Given the description of an element on the screen output the (x, y) to click on. 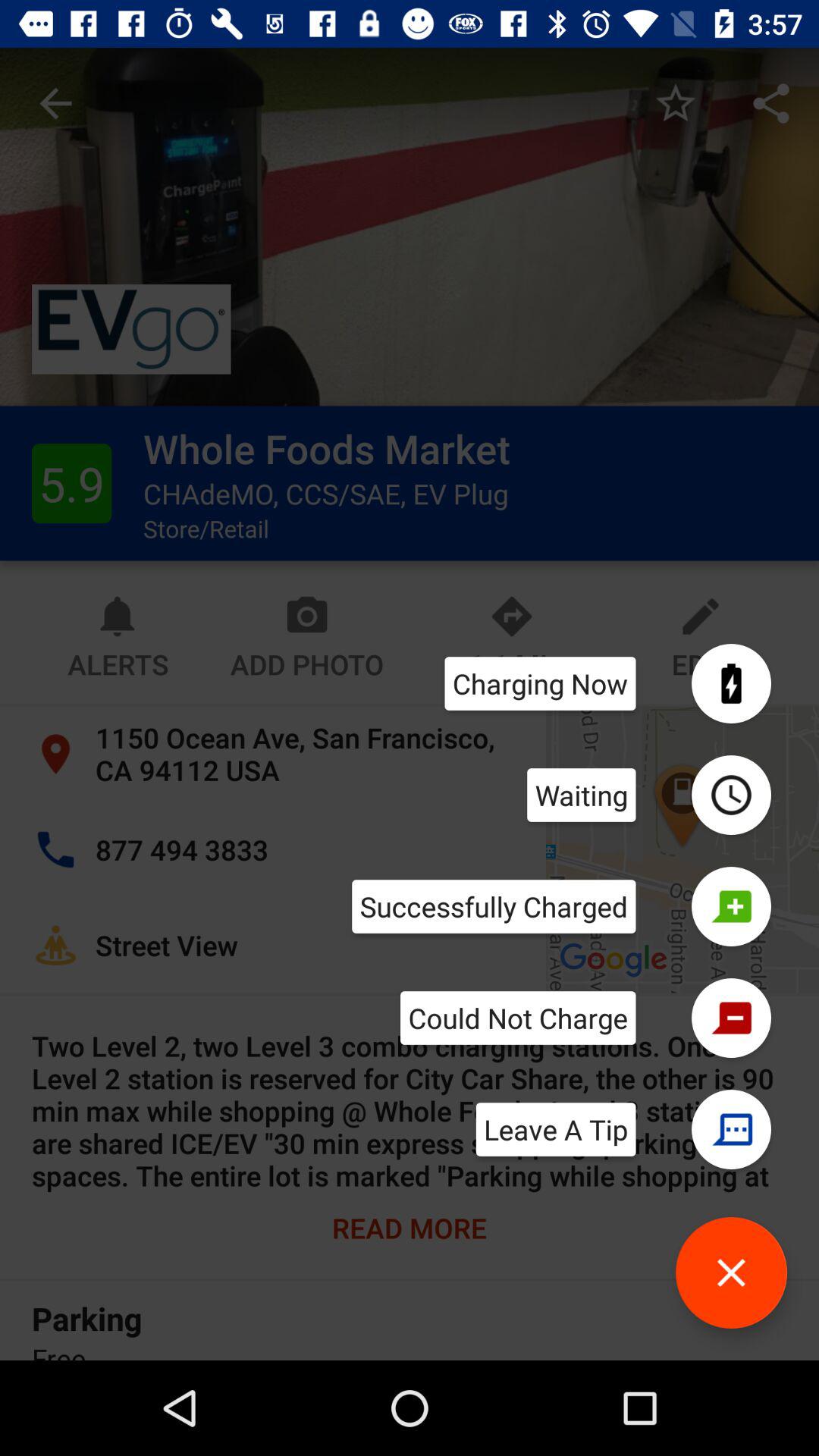
close button (731, 1272)
